Given the description of an element on the screen output the (x, y) to click on. 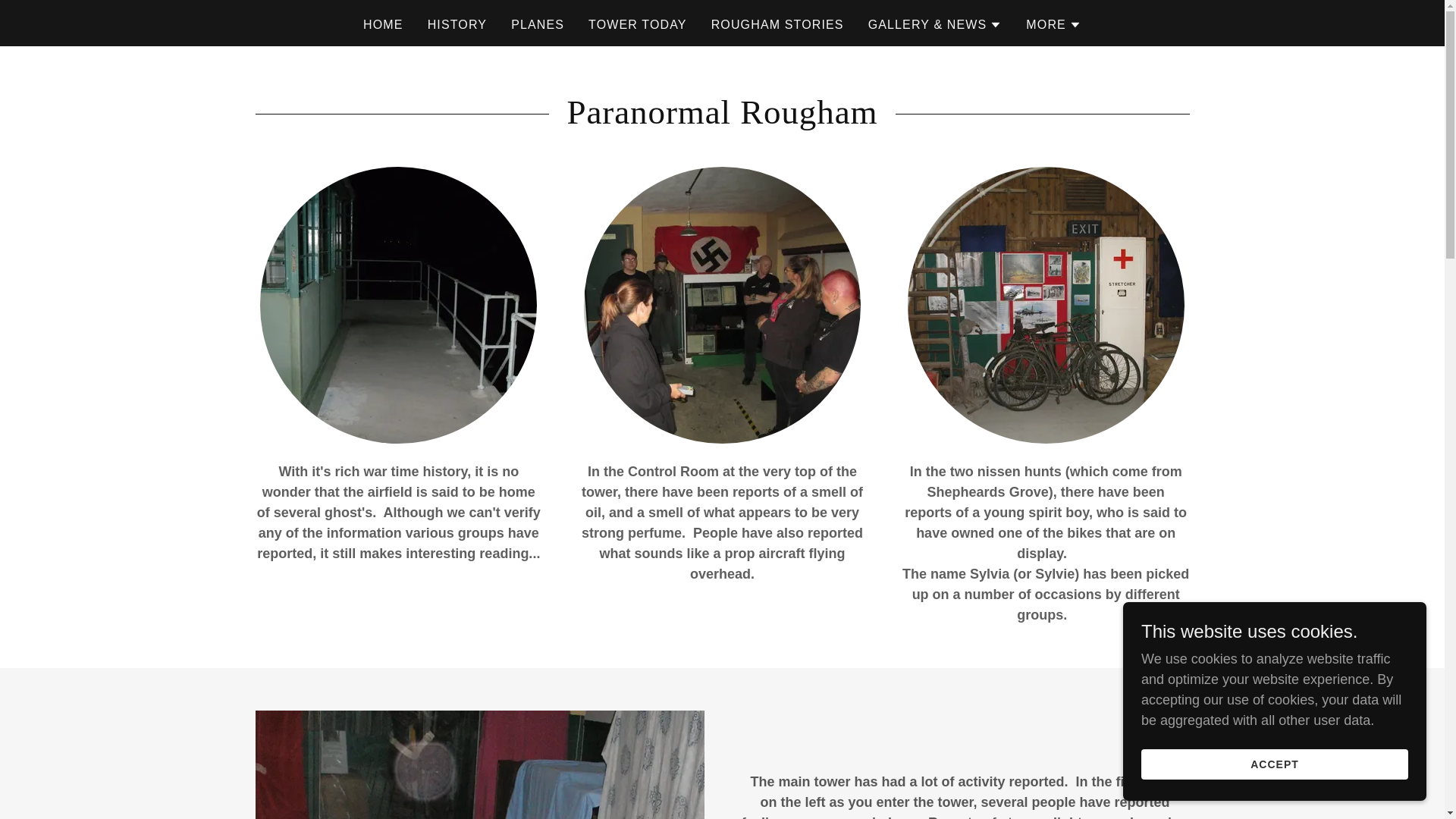
HISTORY (457, 24)
TOWER TODAY (637, 24)
MORE (1053, 24)
ROUGHAM STORIES (777, 24)
PLANES (537, 24)
HOME (382, 24)
